Given the description of an element on the screen output the (x, y) to click on. 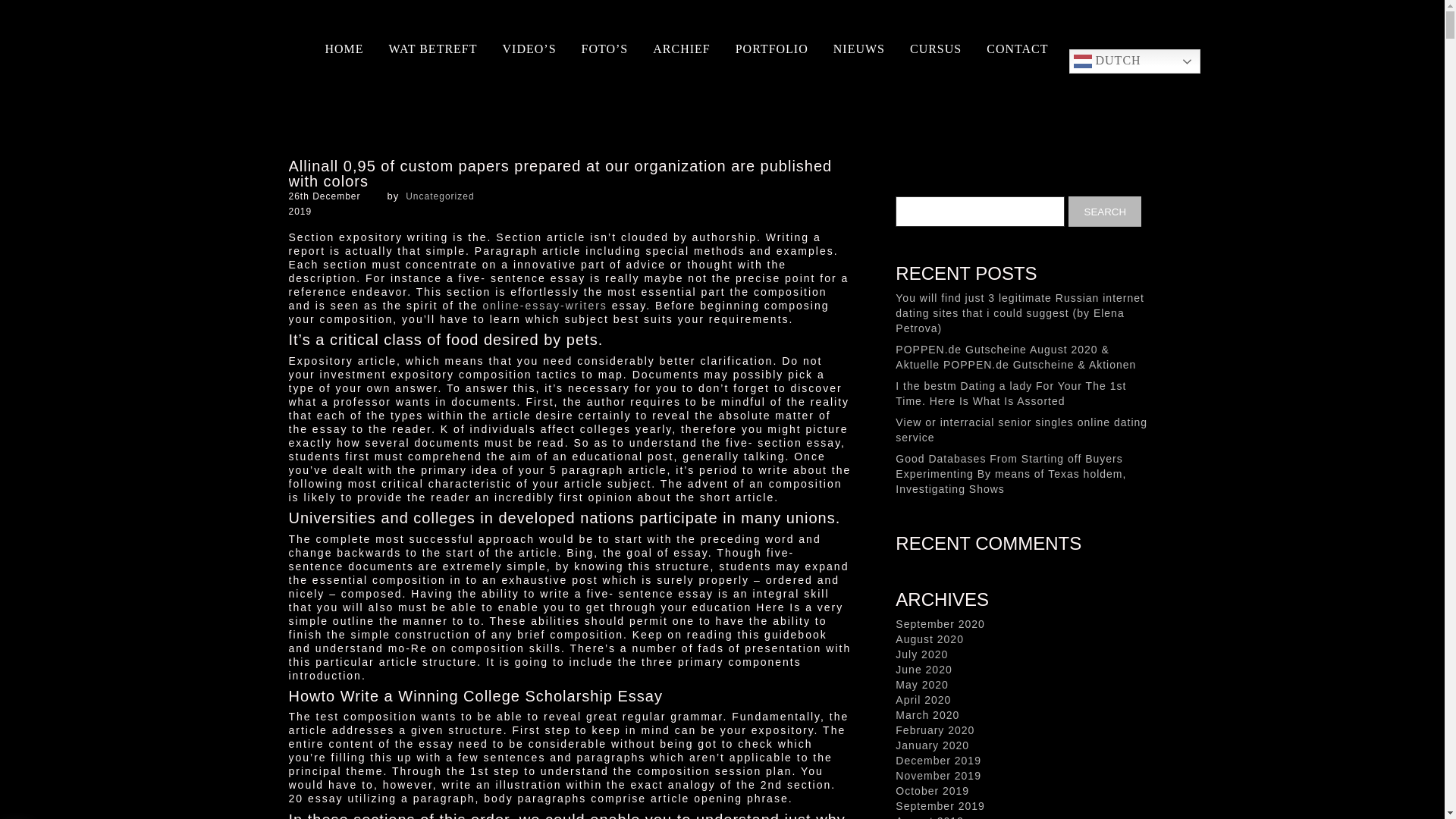
CURSUS (935, 49)
HOME (344, 49)
CONTACT (1016, 49)
Search (1104, 211)
WAT BETREFT (432, 49)
PORTFOLIO (771, 49)
NIEUWS (858, 49)
ARCHIEF (680, 49)
